Given the description of an element on the screen output the (x, y) to click on. 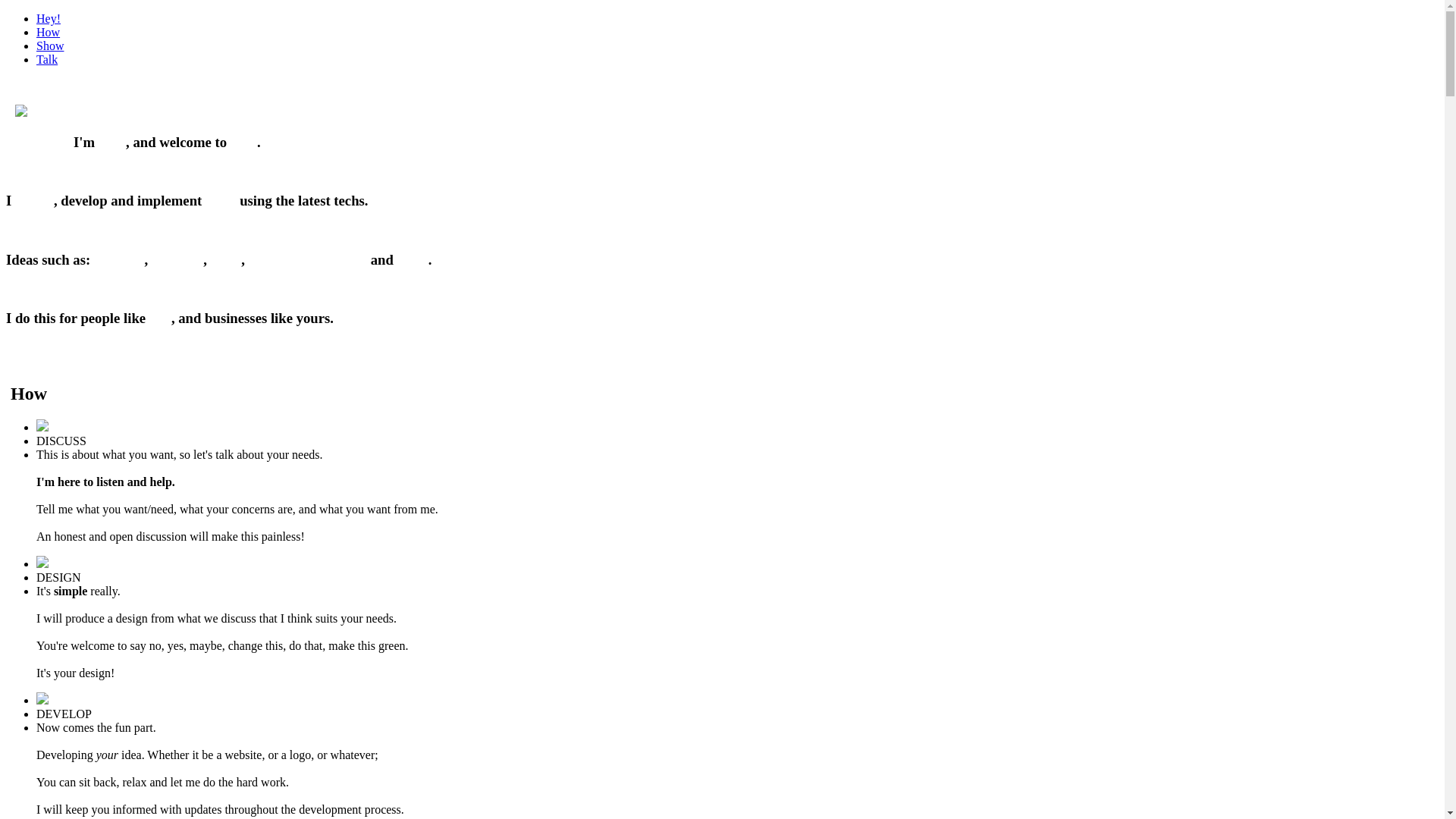
How Element type: text (47, 31)
Hey! Element type: text (48, 18)
Show Element type: text (49, 45)
Talk Element type: text (46, 59)
